Given the description of an element on the screen output the (x, y) to click on. 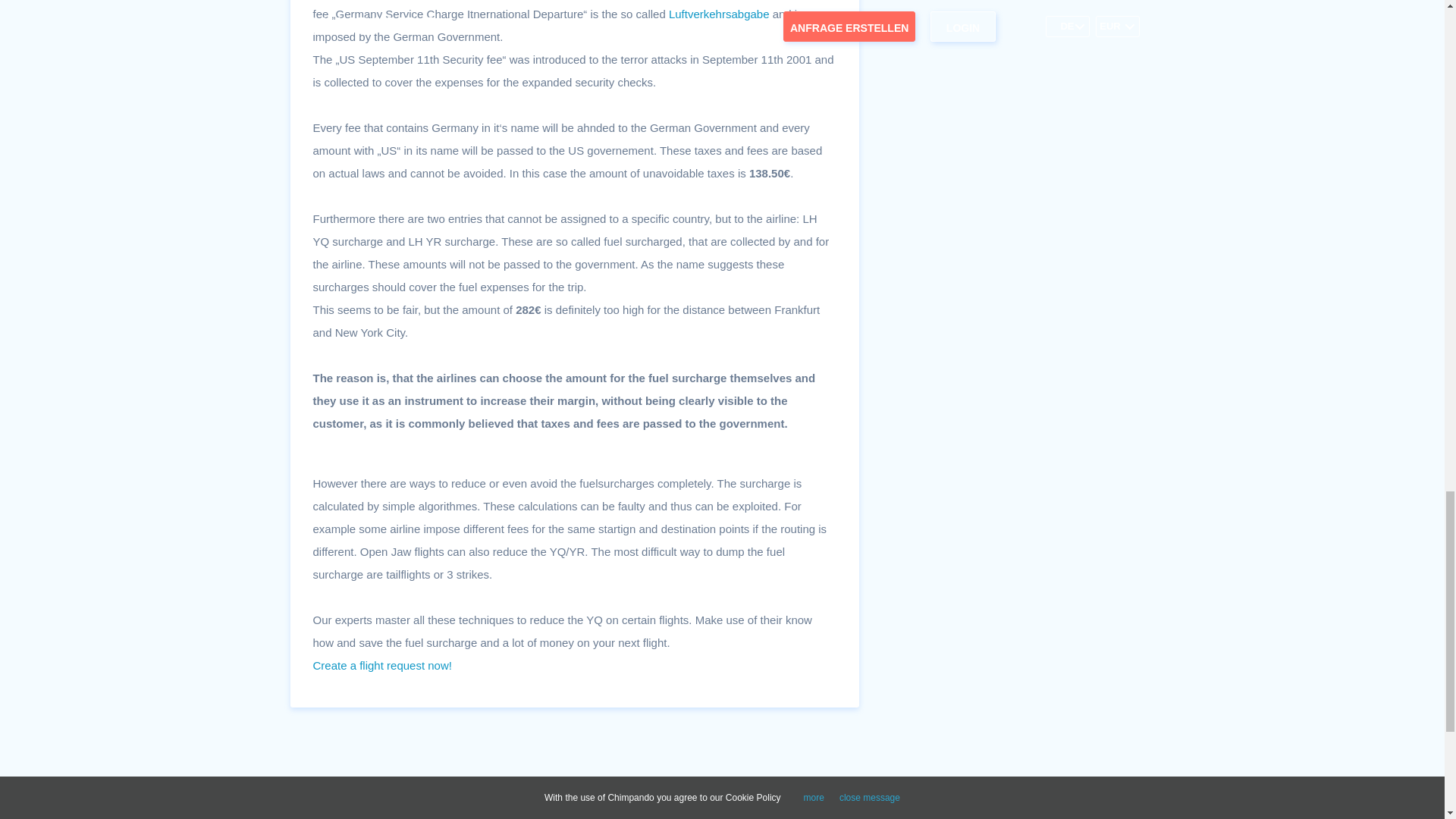
Luftverkehrsabgabe (719, 13)
Create a flight request now! (382, 665)
